Given the description of an element on the screen output the (x, y) to click on. 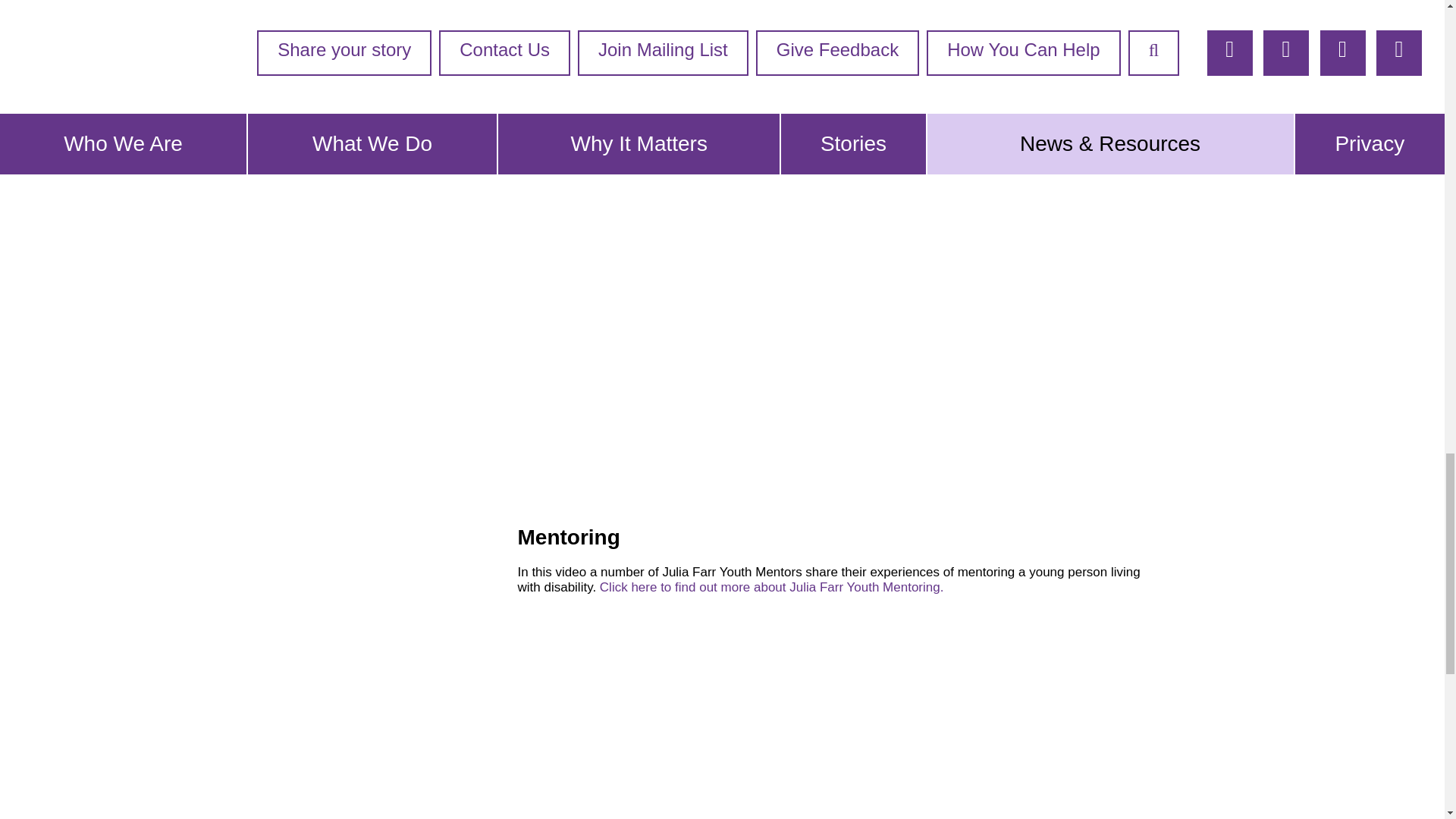
Julia Farr Youth Mentoring (773, 586)
